Given the description of an element on the screen output the (x, y) to click on. 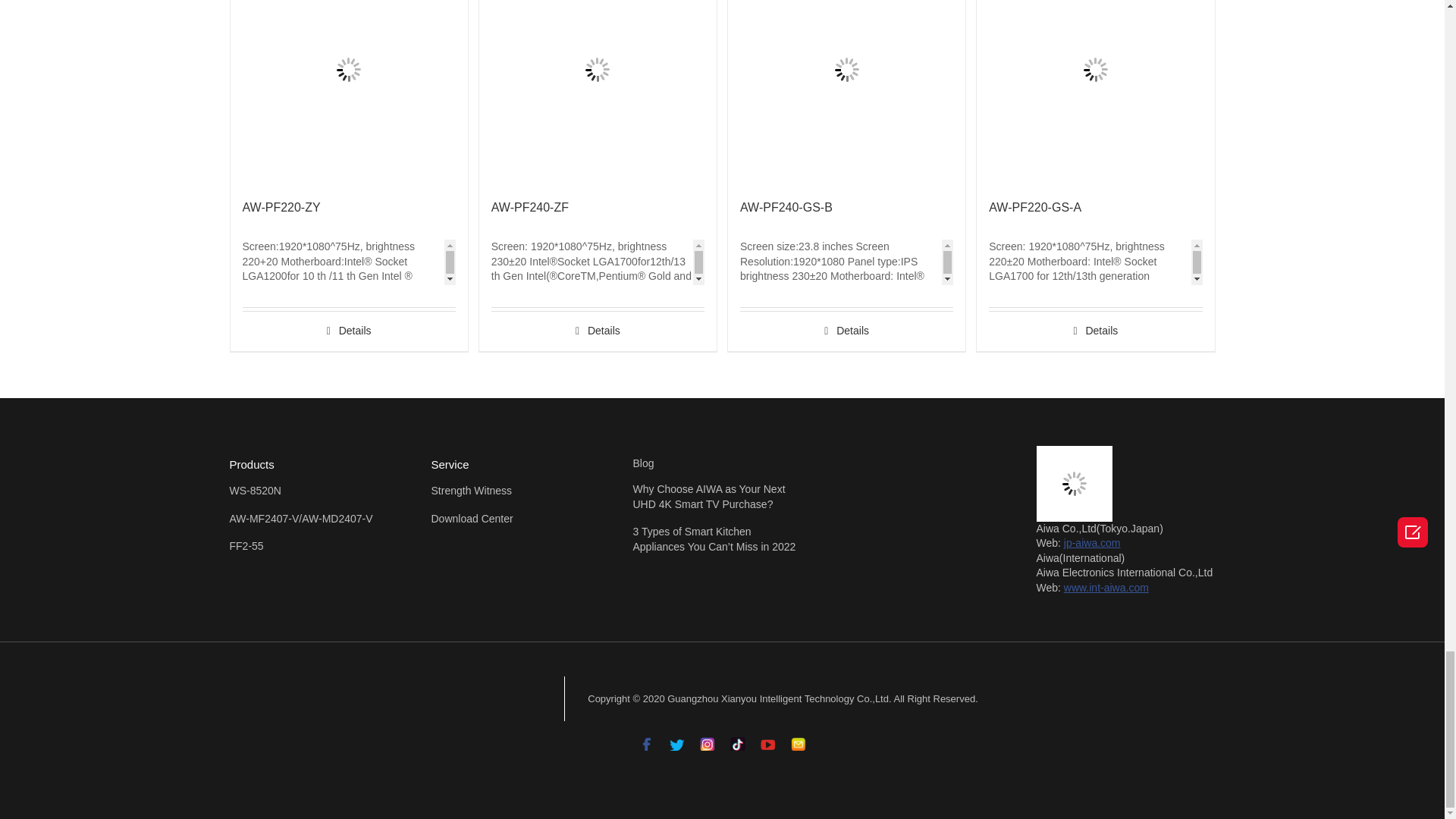
Tiktok (736, 739)
Email (797, 739)
YouTube (767, 739)
Instagram (706, 739)
Twitter (676, 739)
Facebook (646, 739)
